Given the description of an element on the screen output the (x, y) to click on. 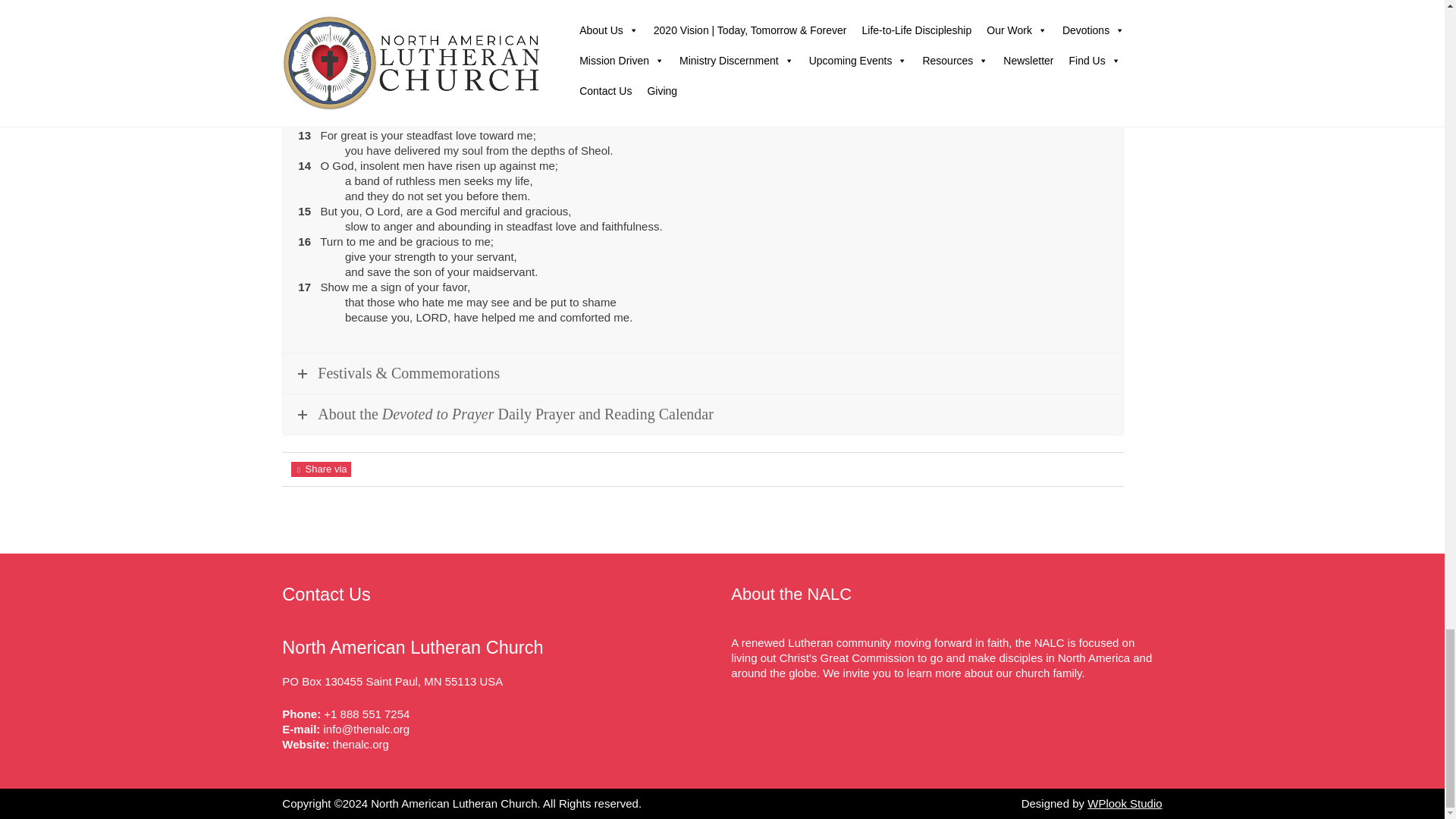
WPlook Studio (1124, 802)
